Given the description of an element on the screen output the (x, y) to click on. 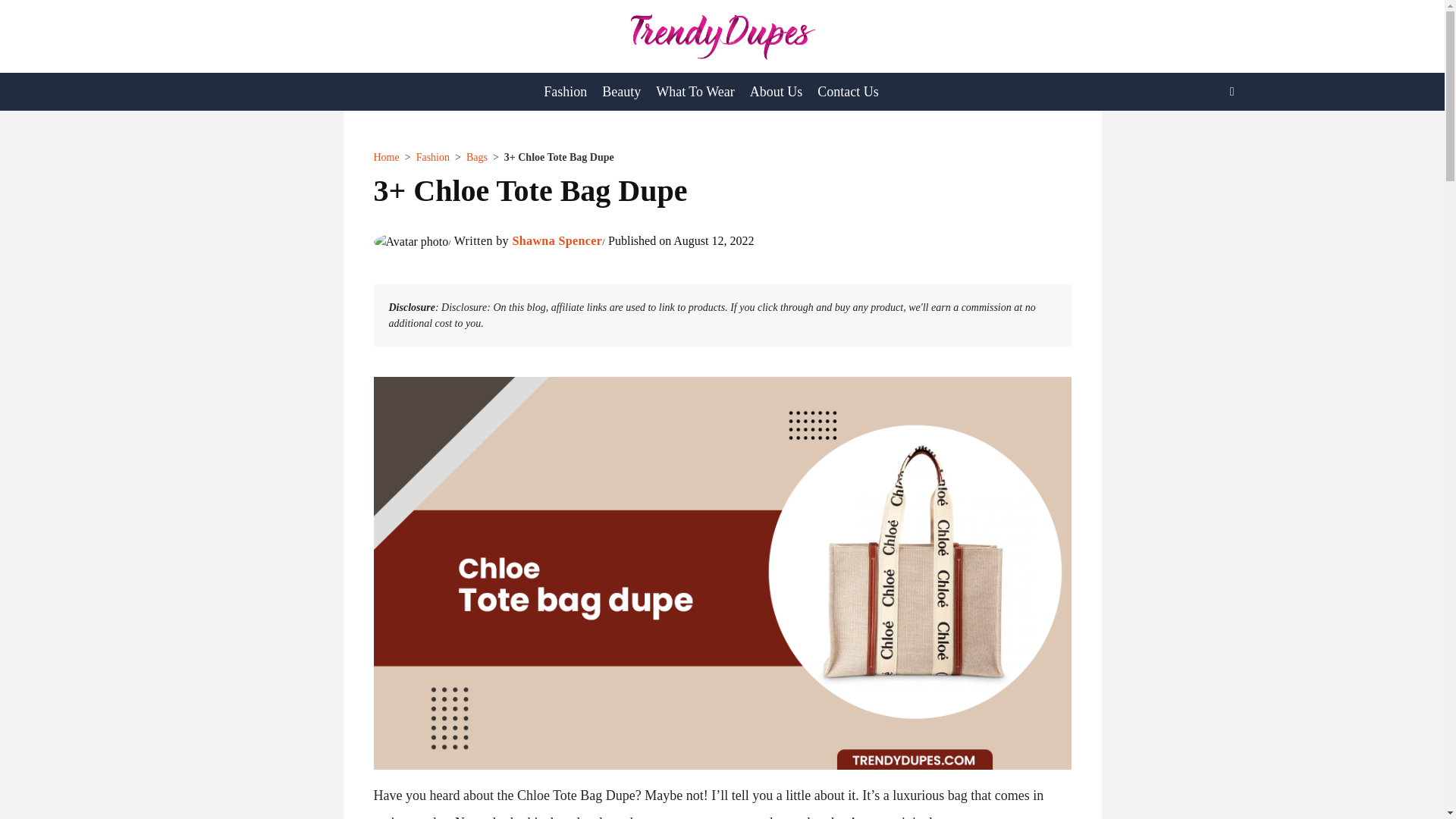
Home (385, 156)
What To Wear (694, 91)
Beauty (620, 91)
Fashion (432, 156)
Shawna Spencer (557, 240)
Bags (476, 156)
Contact Us (847, 91)
Home (385, 156)
Fashion (564, 91)
About Us (776, 91)
Posts by Shawna Spencer (557, 240)
